Given the description of an element on the screen output the (x, y) to click on. 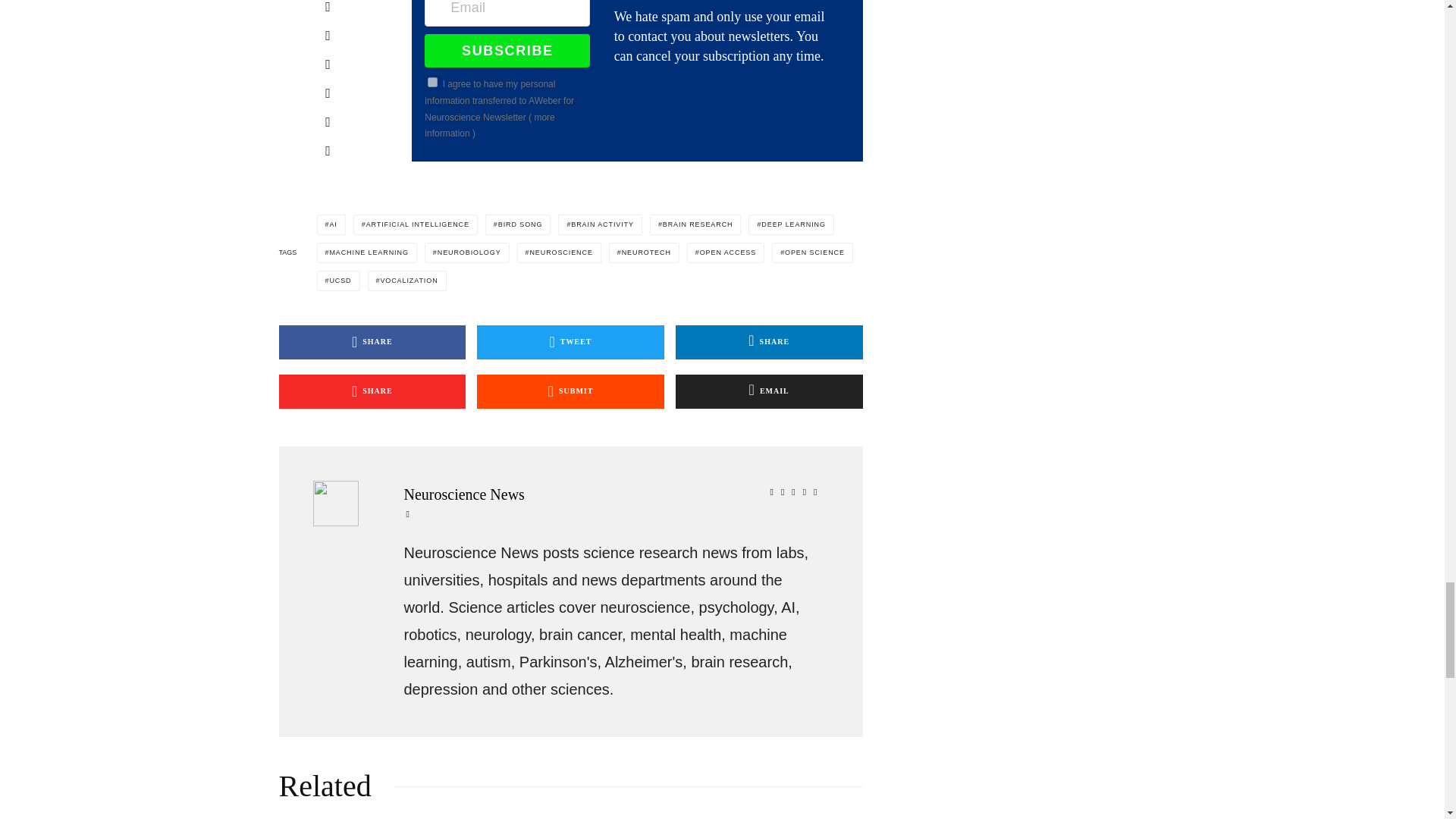
DEEP LEARNING (790, 224)
OPEN ACCESS (725, 252)
AI (331, 224)
more information (489, 125)
SUBSCRIBE (507, 50)
SUBSCRIBE (507, 50)
SHARE (769, 342)
BIRD SONG (517, 224)
ARTIFICIAL INTELLIGENCE (415, 224)
on (433, 81)
NEUROBIOLOGY (467, 252)
SHARE (372, 391)
VOCALIZATION (407, 281)
TWEET (570, 342)
BRAIN ACTIVITY (599, 224)
